Given the description of an element on the screen output the (x, y) to click on. 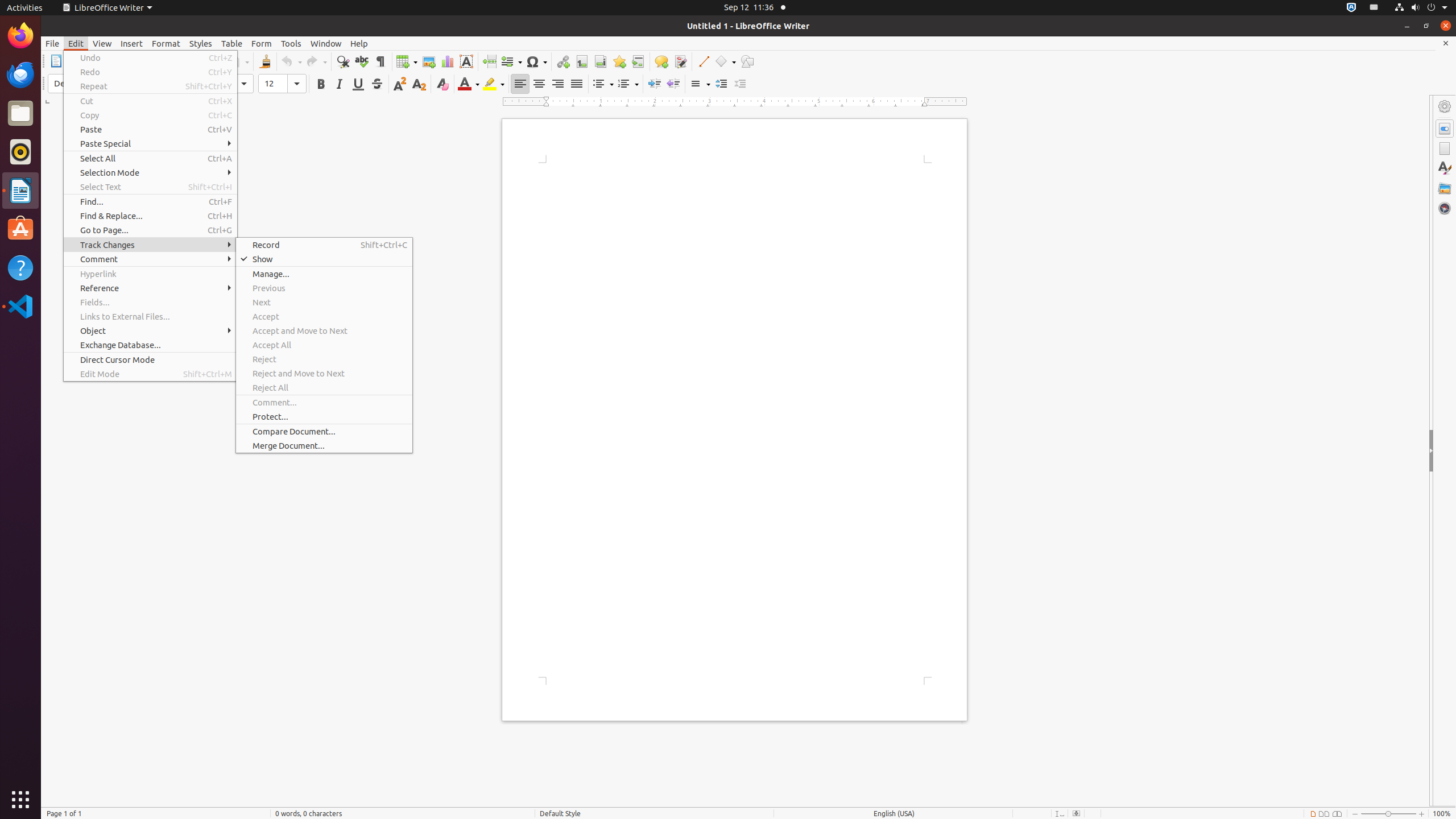
Find... Element type: menu-item (150, 201)
Reference Element type: menu (150, 287)
Field Element type: push-button (510, 61)
Clear Element type: push-button (441, 83)
Properties Element type: radio-button (1444, 128)
